Given the description of an element on the screen output the (x, y) to click on. 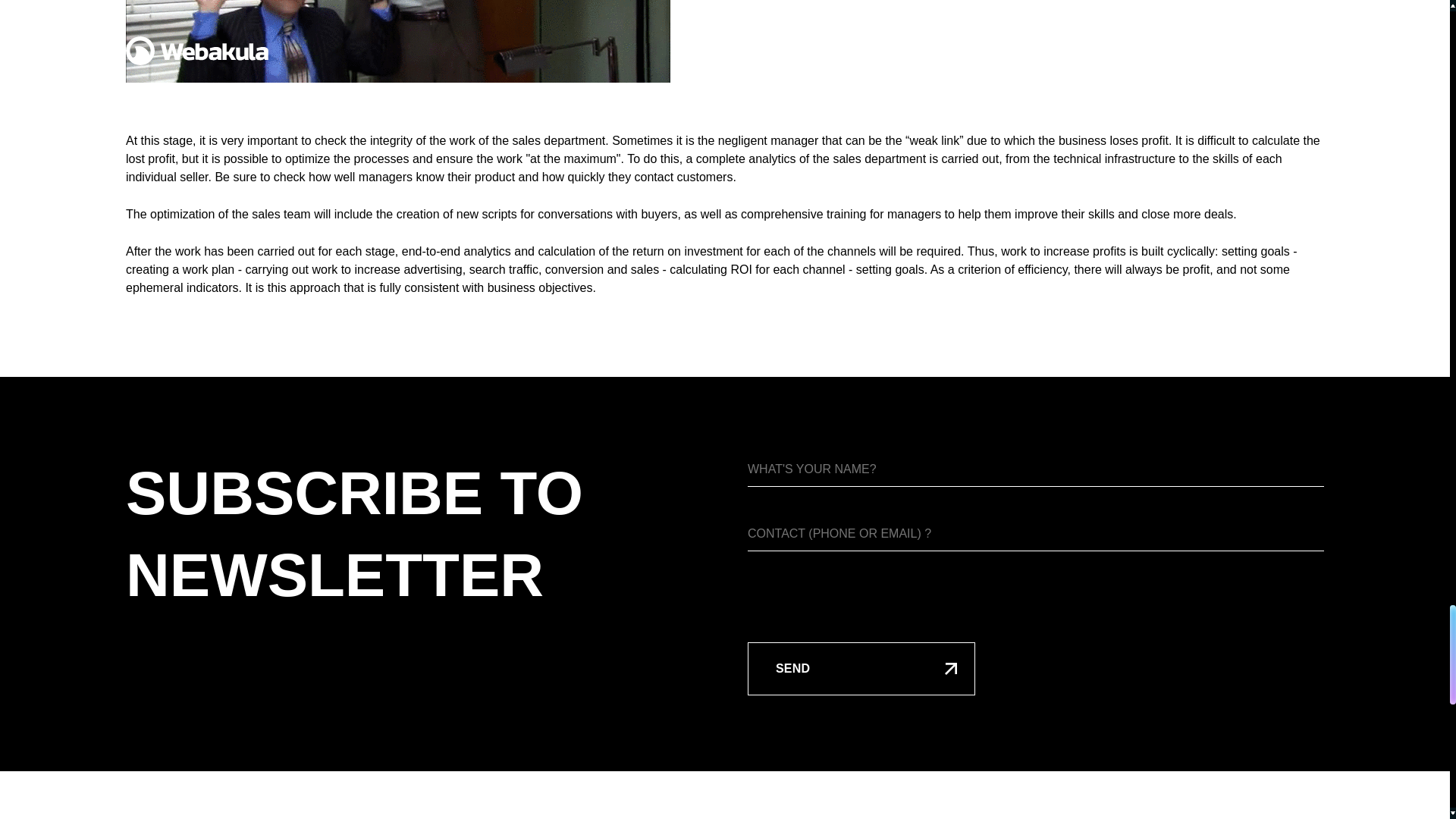
SEND (861, 668)
